Given the description of an element on the screen output the (x, y) to click on. 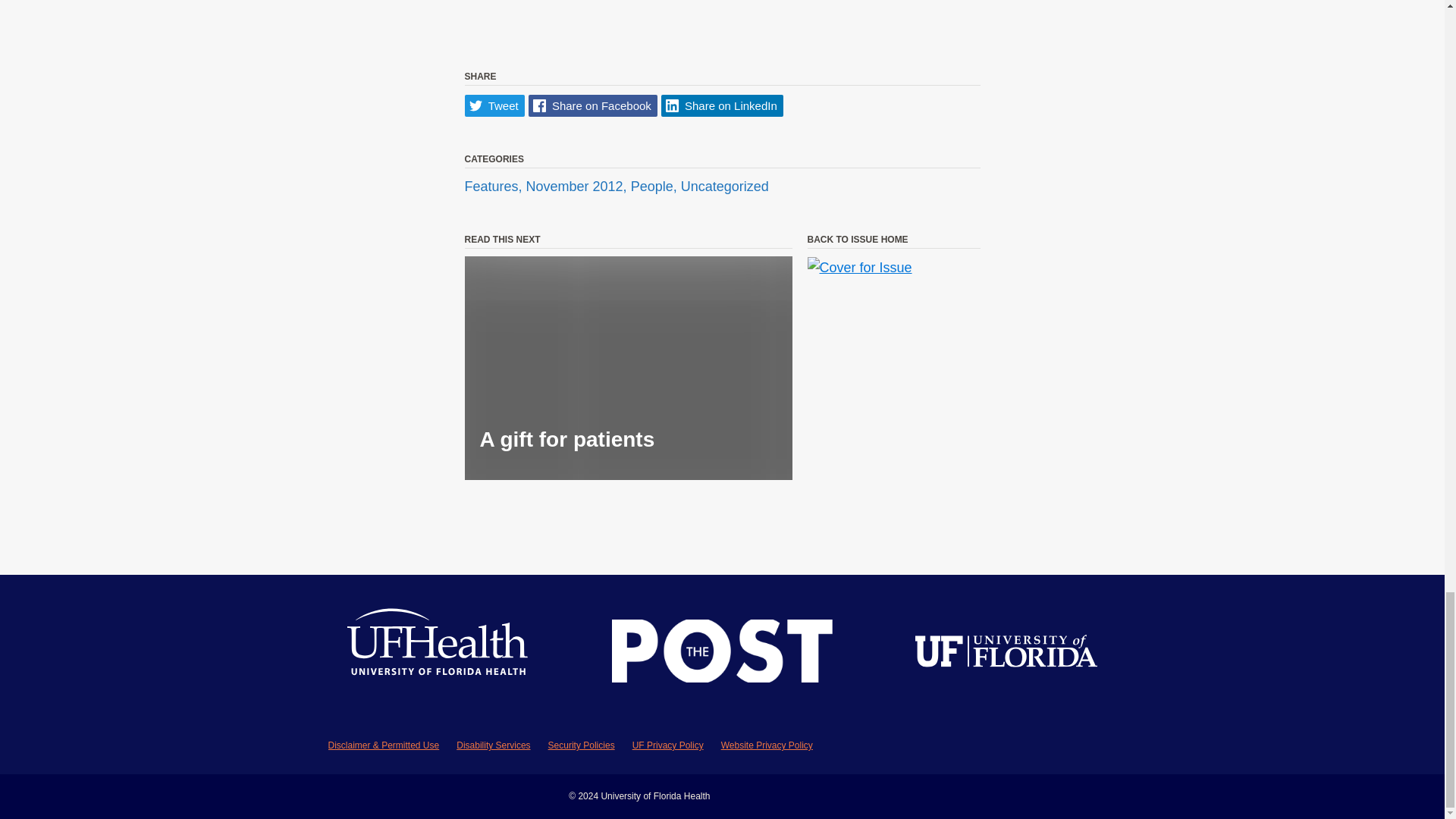
University of Florida Logo (1005, 653)
People, (655, 186)
UF Privacy Policy (667, 745)
November 2012, (577, 186)
Features, (494, 186)
Publication Logo (721, 653)
Uncategorized (724, 186)
Disability Services (493, 745)
Share on Facebook (593, 106)
Security Policies (581, 745)
